Given the description of an element on the screen output the (x, y) to click on. 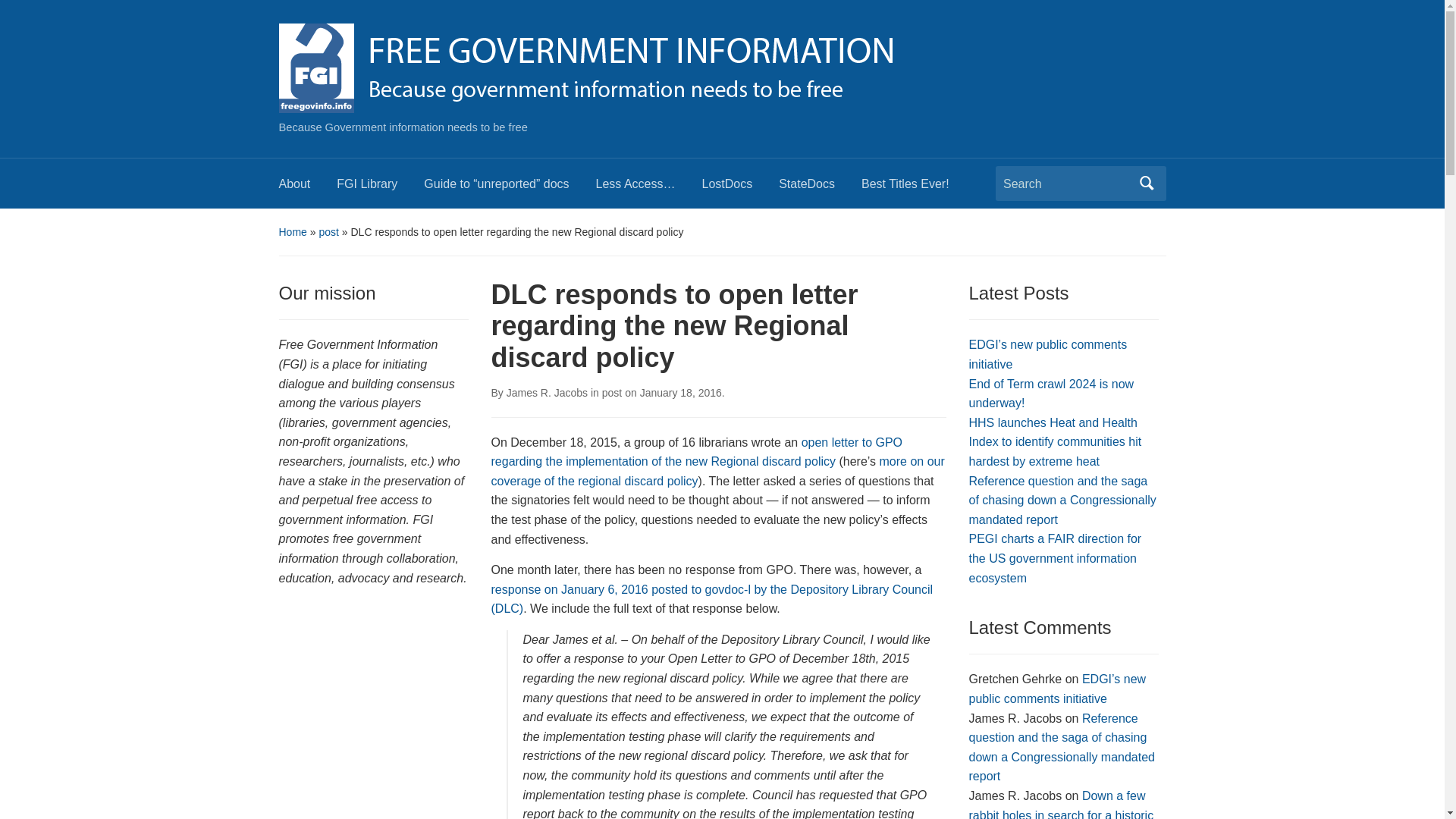
1:34 pm (681, 392)
Best Titles Ever! (918, 188)
Home (293, 232)
FGI Library (379, 188)
post (611, 392)
View all posts by James R. Jacobs (547, 392)
post (327, 232)
StateDocs (819, 188)
more on our coverage of the regional discard policy (718, 471)
